Given the description of an element on the screen output the (x, y) to click on. 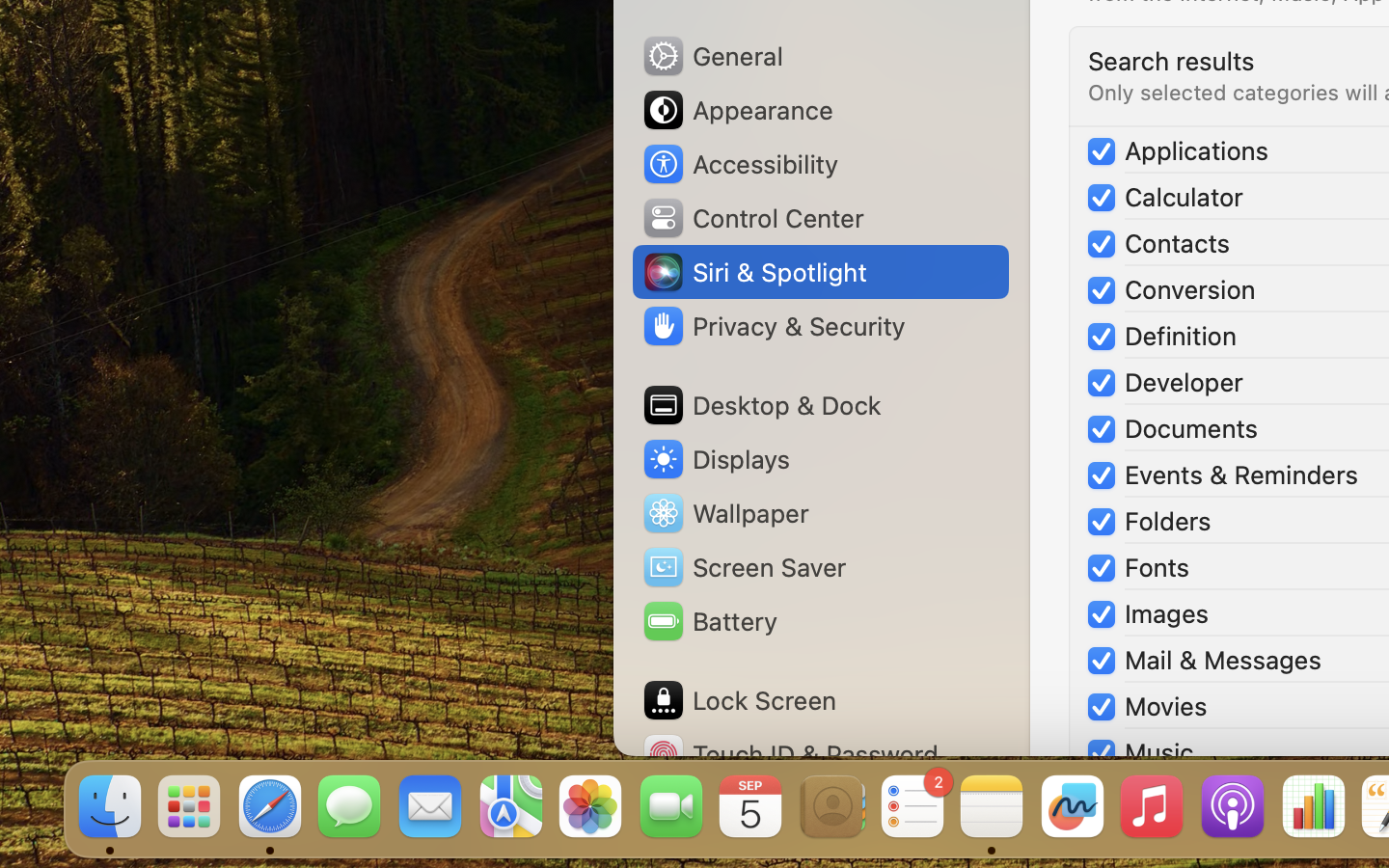
Wallpaper Element type: AXStaticText (724, 512)
Appearance Element type: AXStaticText (736, 109)
Lock Screen Element type: AXStaticText (738, 700)
Displays Element type: AXStaticText (715, 458)
